Given the description of an element on the screen output the (x, y) to click on. 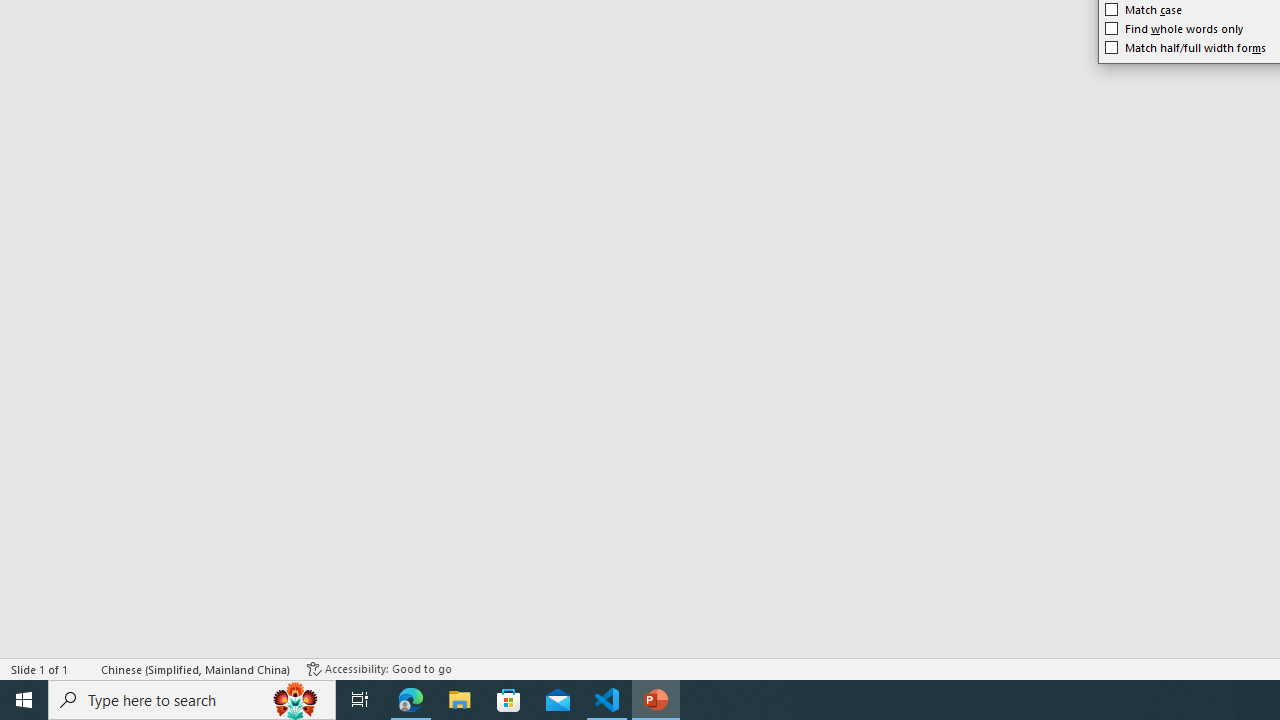
Microsoft Store (509, 699)
Find whole words only (1174, 28)
PowerPoint - 1 running window (656, 699)
Microsoft Edge - 1 running window (411, 699)
Visual Studio Code - 1 running window (607, 699)
Type here to search (191, 699)
File Explorer (460, 699)
Accessibility Checker Accessibility: Good to go (379, 668)
Start (24, 699)
Search highlights icon opens search home window (295, 699)
Match half/full width forms (1186, 48)
Spell Check  (86, 668)
Match case (1144, 10)
Task View (359, 699)
